Given the description of an element on the screen output the (x, y) to click on. 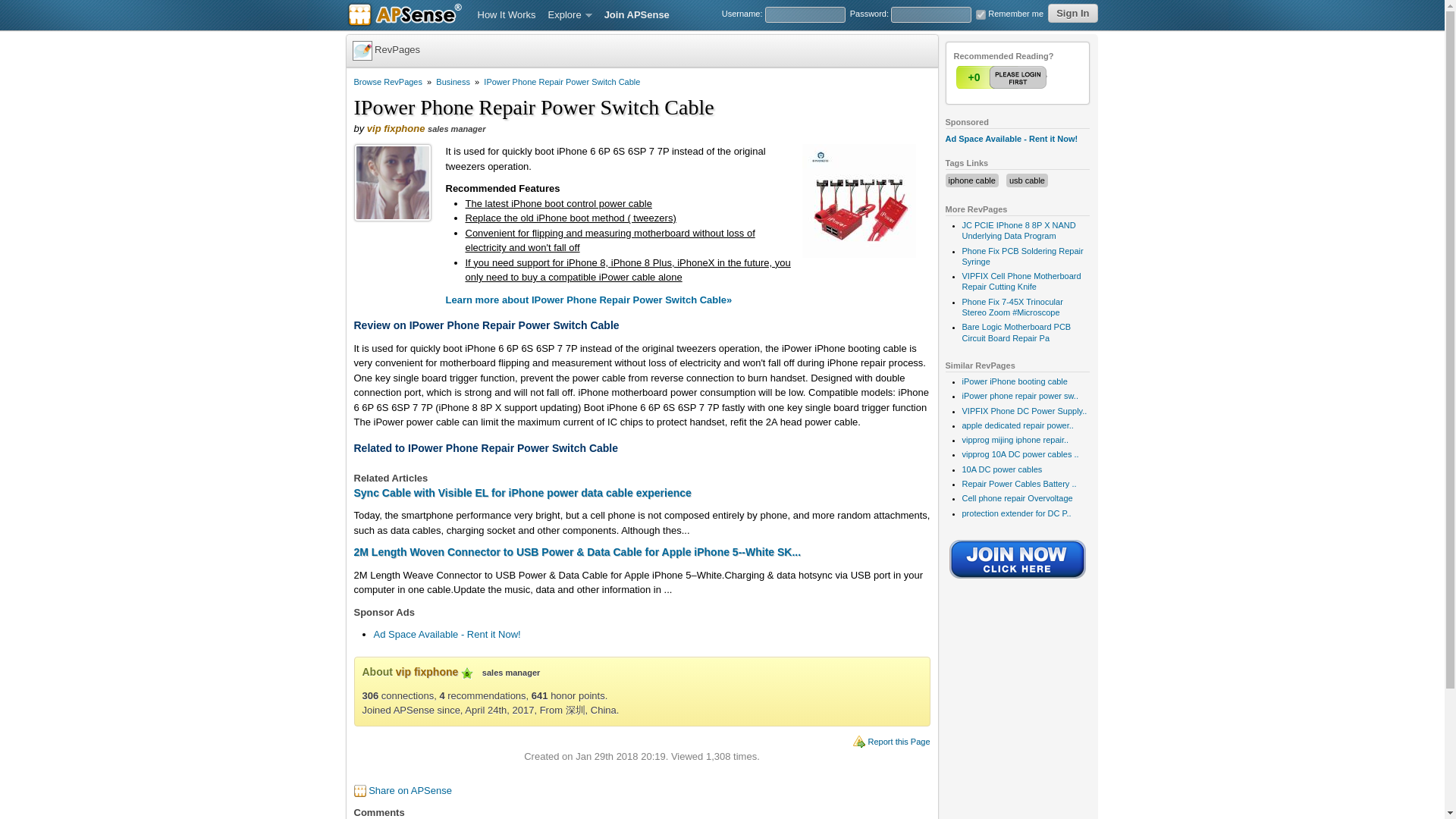
vip fixphone (427, 671)
Share on APSense (409, 790)
Report this Page (898, 741)
1 (1002, 77)
Ad Space Available - Rent it Now! (445, 633)
Phone Fix PCB Soldering Repair Syringe (1021, 256)
Senior (467, 673)
Browse RevPages (387, 81)
-1 (1031, 77)
usb cable (1027, 180)
